Given the description of an element on the screen output the (x, y) to click on. 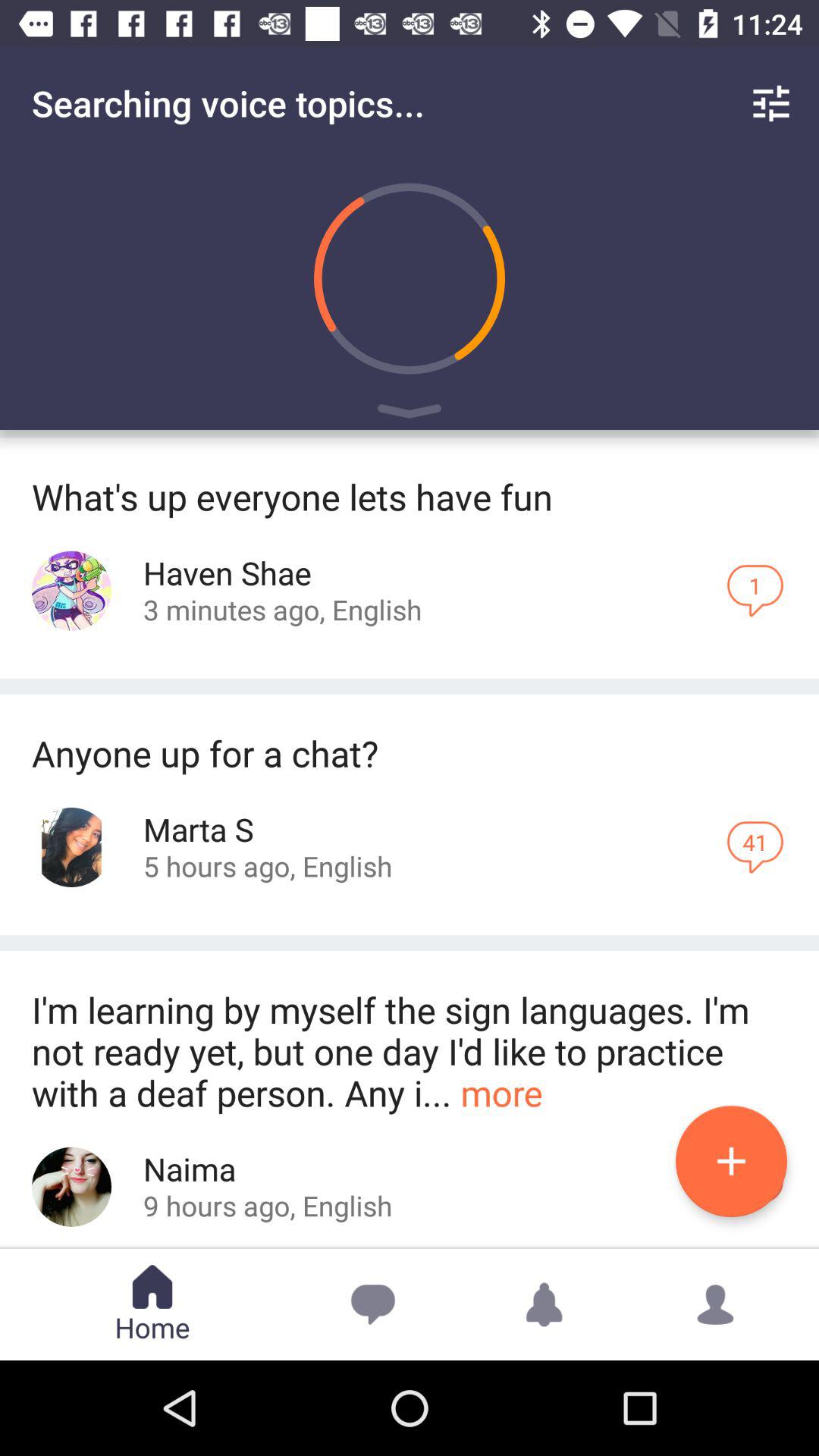
profile picture (71, 1186)
